Given the description of an element on the screen output the (x, y) to click on. 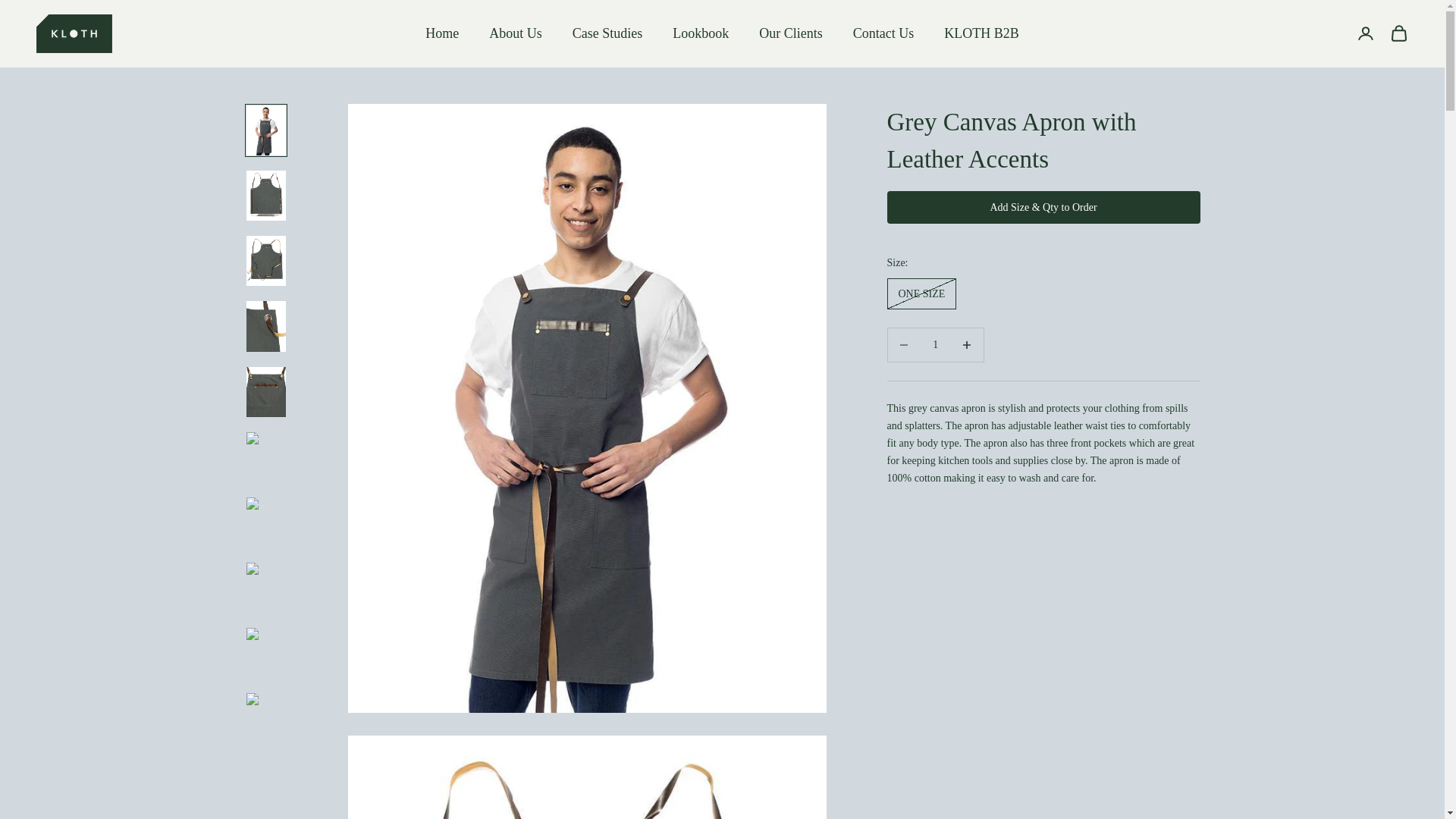
1 (935, 344)
Contact Us (883, 33)
Open account page (1365, 33)
Home (441, 33)
Our Clients (790, 33)
Kloth Studio Inc. (74, 33)
Case Studies (607, 33)
About Us (515, 33)
Lookbook (700, 33)
Open cart (1398, 33)
